Given the description of an element on the screen output the (x, y) to click on. 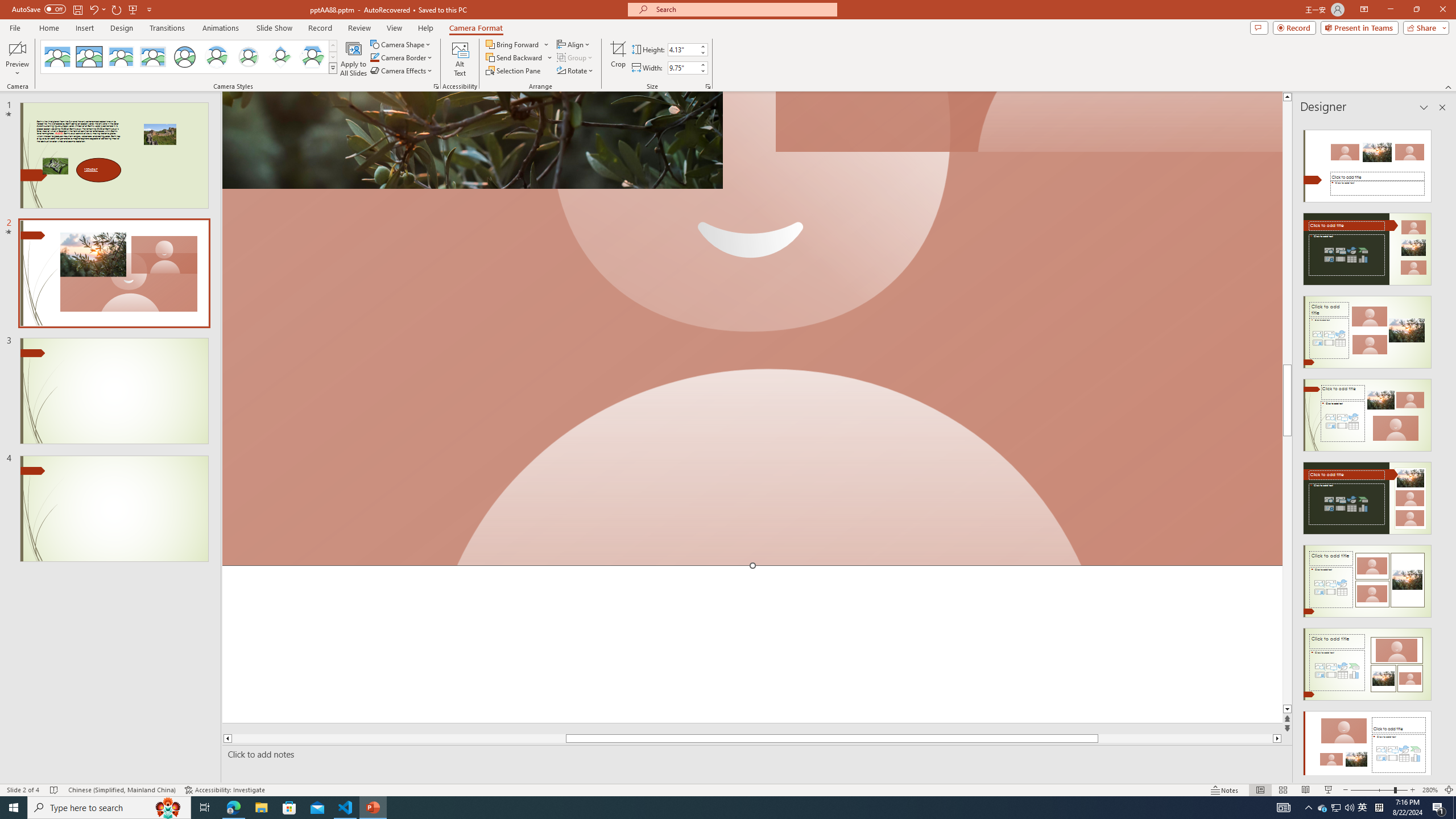
Selection Pane... (513, 69)
Bring Forward (517, 44)
Center Shadow Circle (216, 56)
Recommended Design: Design Idea (1366, 162)
Camera 13, No camera detected. (752, 328)
Center Shadow Rectangle (120, 56)
Soft Edge Rectangle (152, 56)
